Given the description of an element on the screen output the (x, y) to click on. 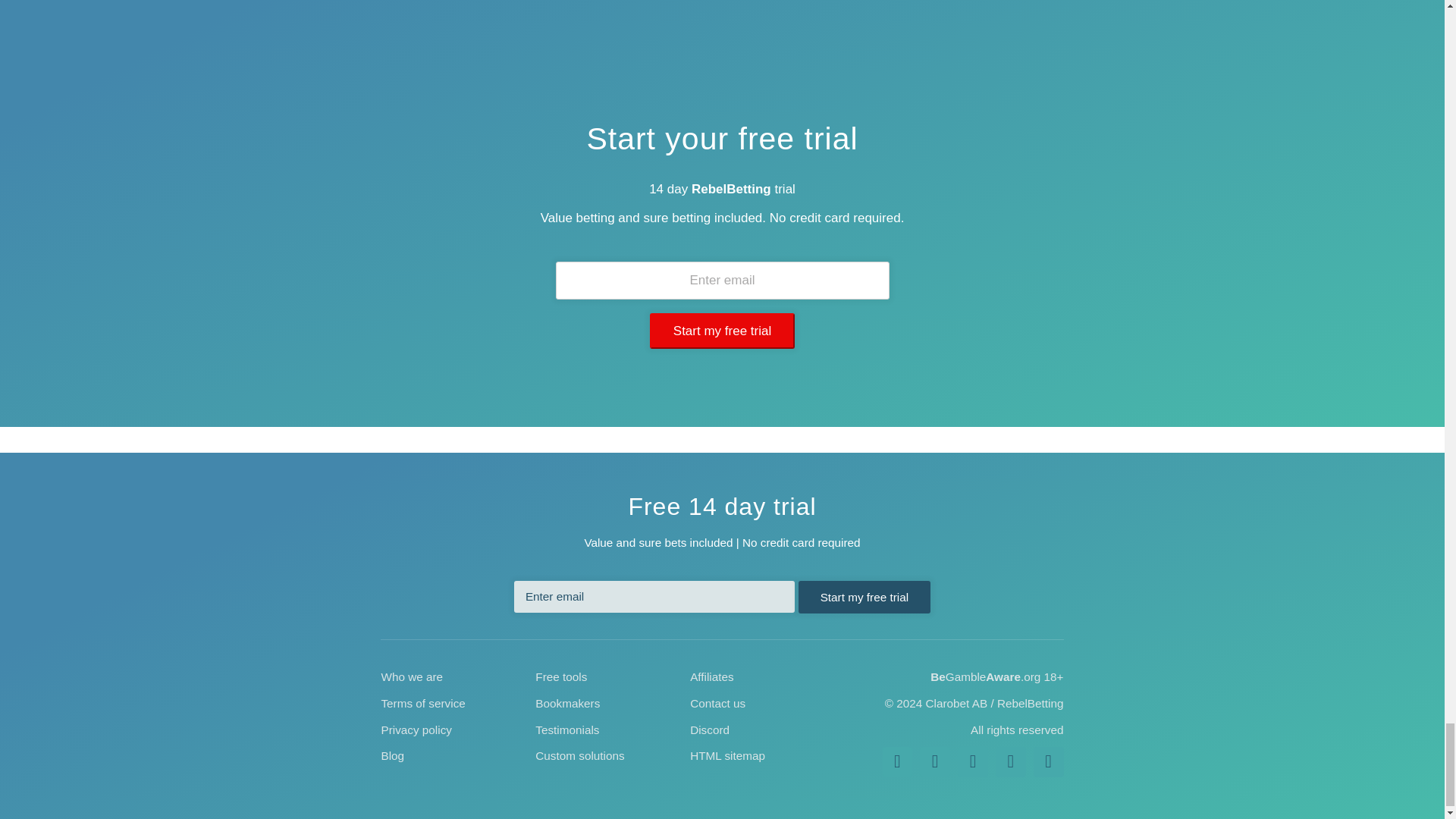
X (935, 752)
YouTube (973, 752)
Email (1010, 752)
Facebook (897, 752)
Start my free trial (863, 506)
Start my free trial (721, 330)
Discord (1048, 752)
